Given the description of an element on the screen output the (x, y) to click on. 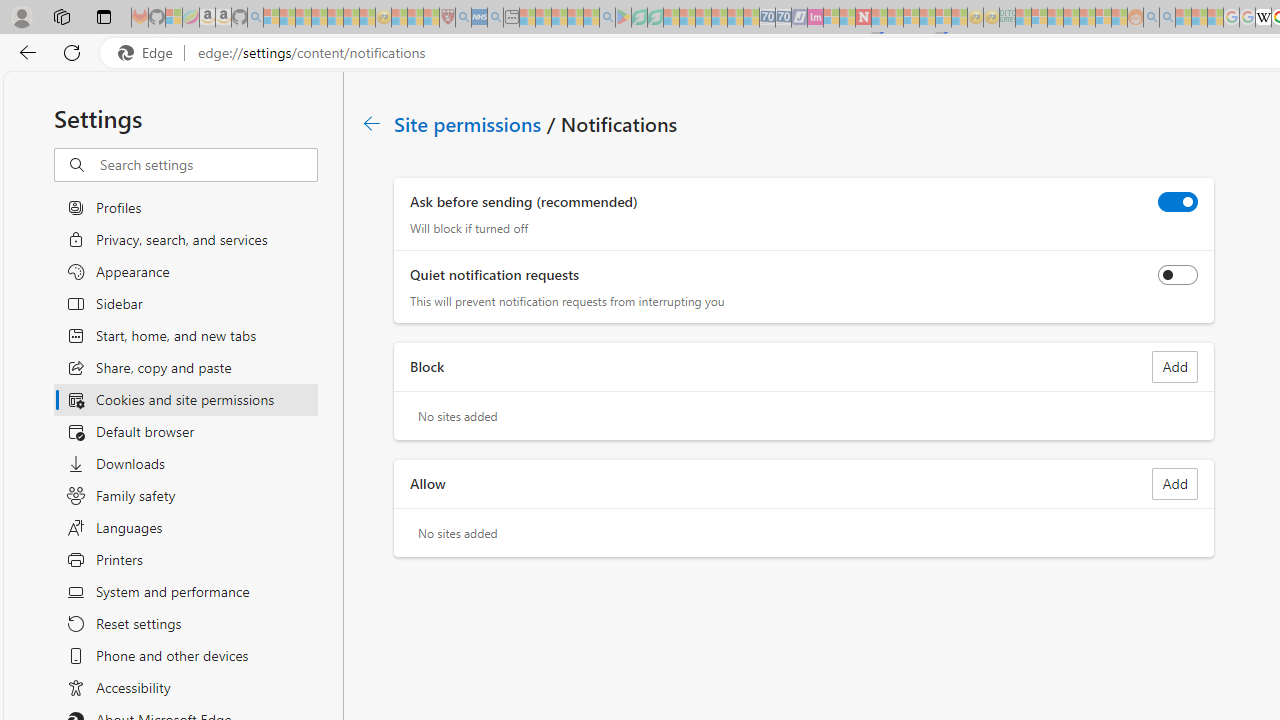
New Report Confirms 2023 Was Record Hot | Watch - Sleeping (335, 17)
Class: c01182 (371, 123)
Site permissions (468, 123)
Microsoft-Report a Concern to Bing - Sleeping (173, 17)
Kinda Frugal - MSN - Sleeping (1087, 17)
Utah sues federal government - Search - Sleeping (1167, 17)
New tab - Sleeping (511, 17)
Latest Politics News & Archive | Newsweek.com - Sleeping (863, 17)
